Given the description of an element on the screen output the (x, y) to click on. 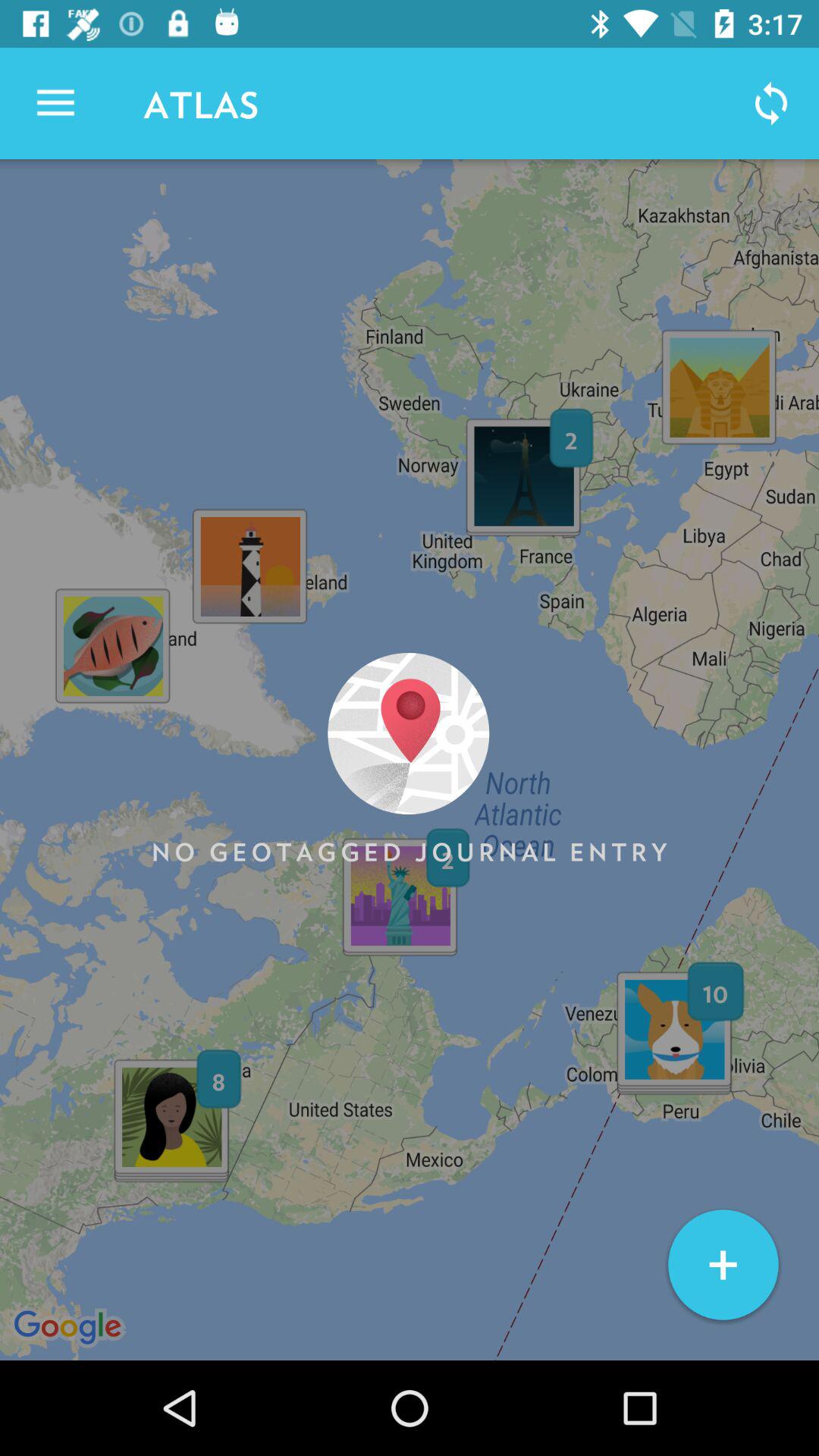
tap the icon below no geotagged journal item (723, 1264)
